Given the description of an element on the screen output the (x, y) to click on. 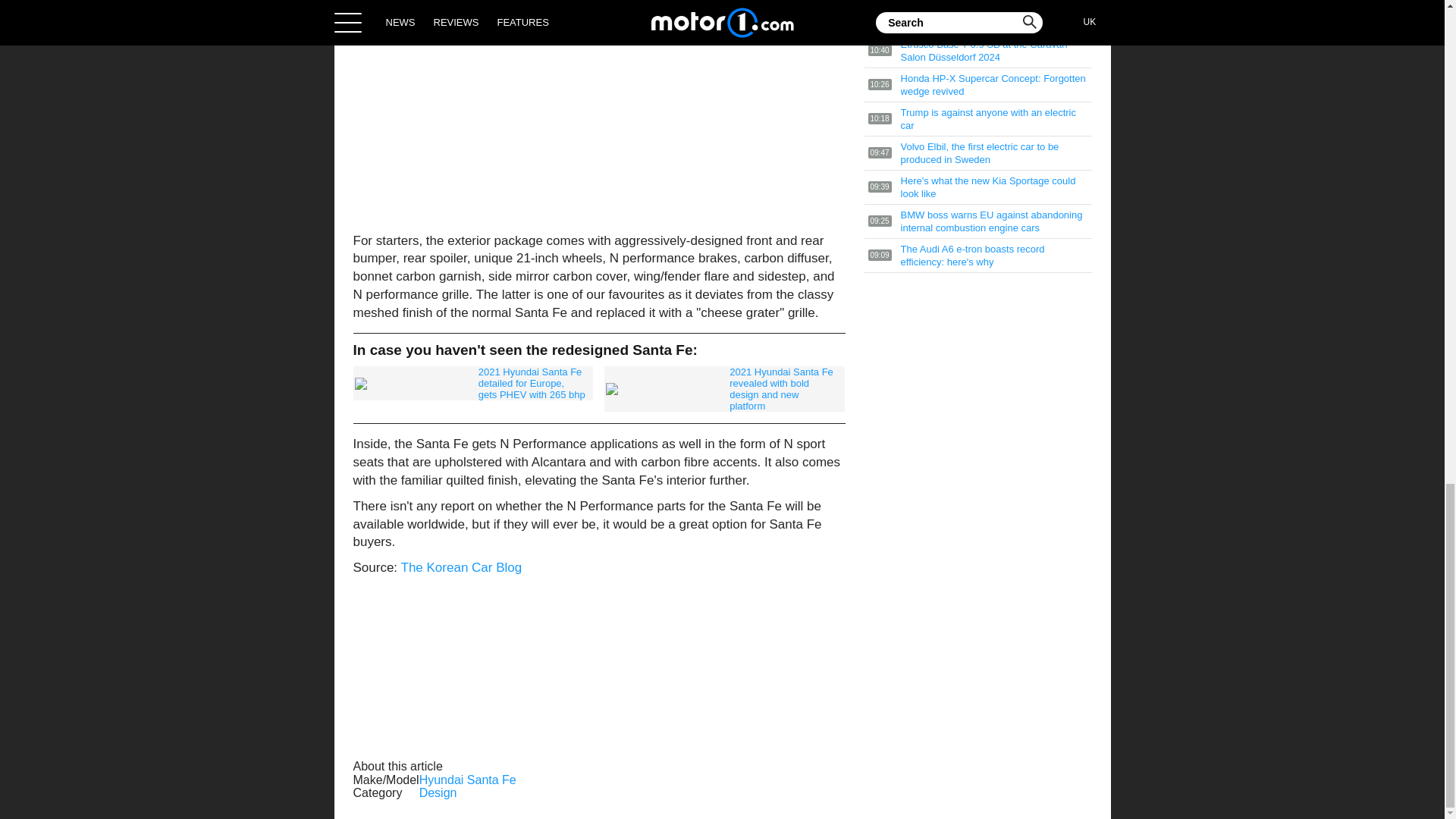
The Korean Car Blog (461, 567)
